Given the description of an element on the screen output the (x, y) to click on. 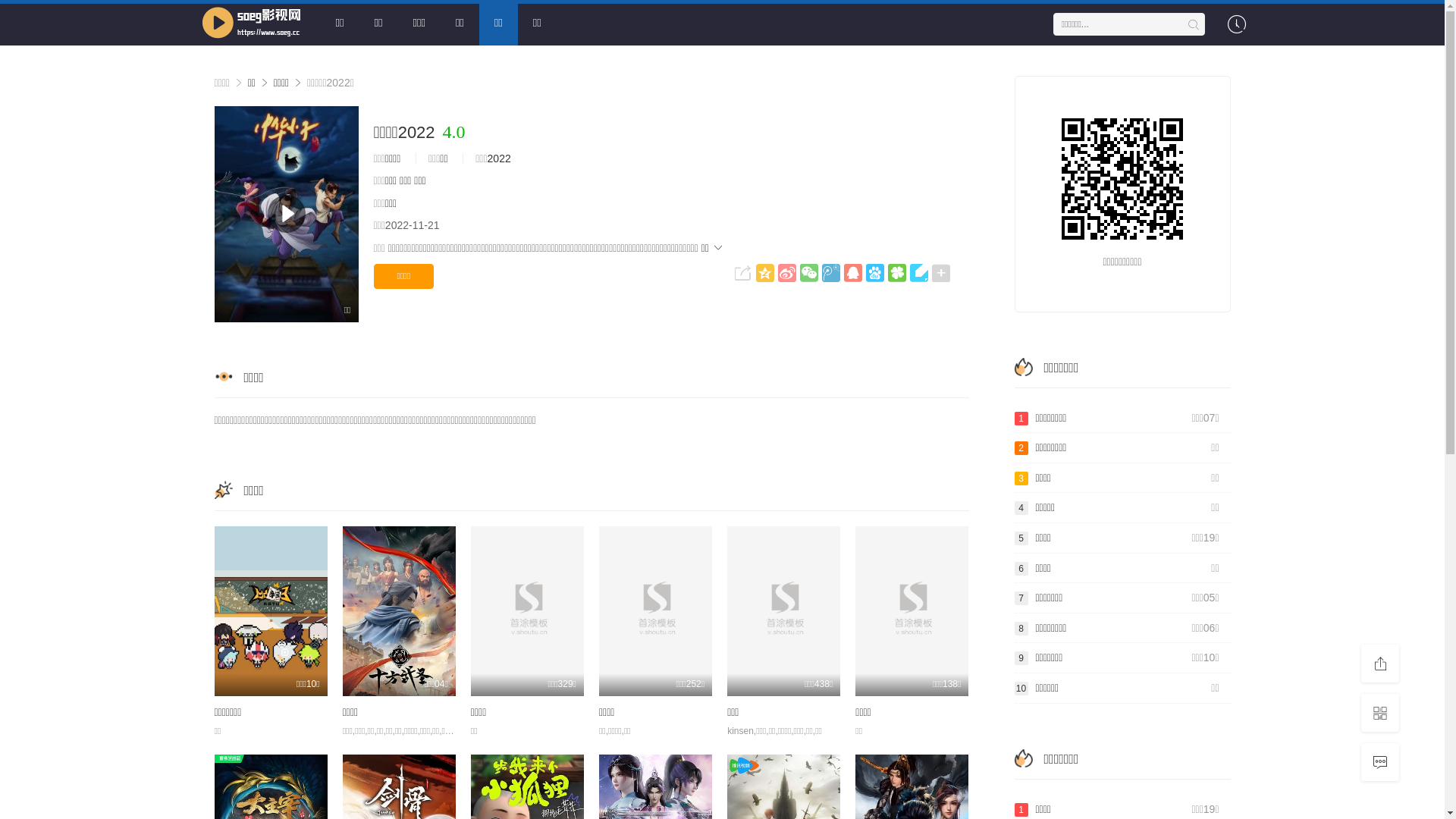
https://www.soeg.cc/voddetail/43175.html Element type: hover (1121, 178)
2022 Element type: text (499, 158)
